Given the description of an element on the screen output the (x, y) to click on. 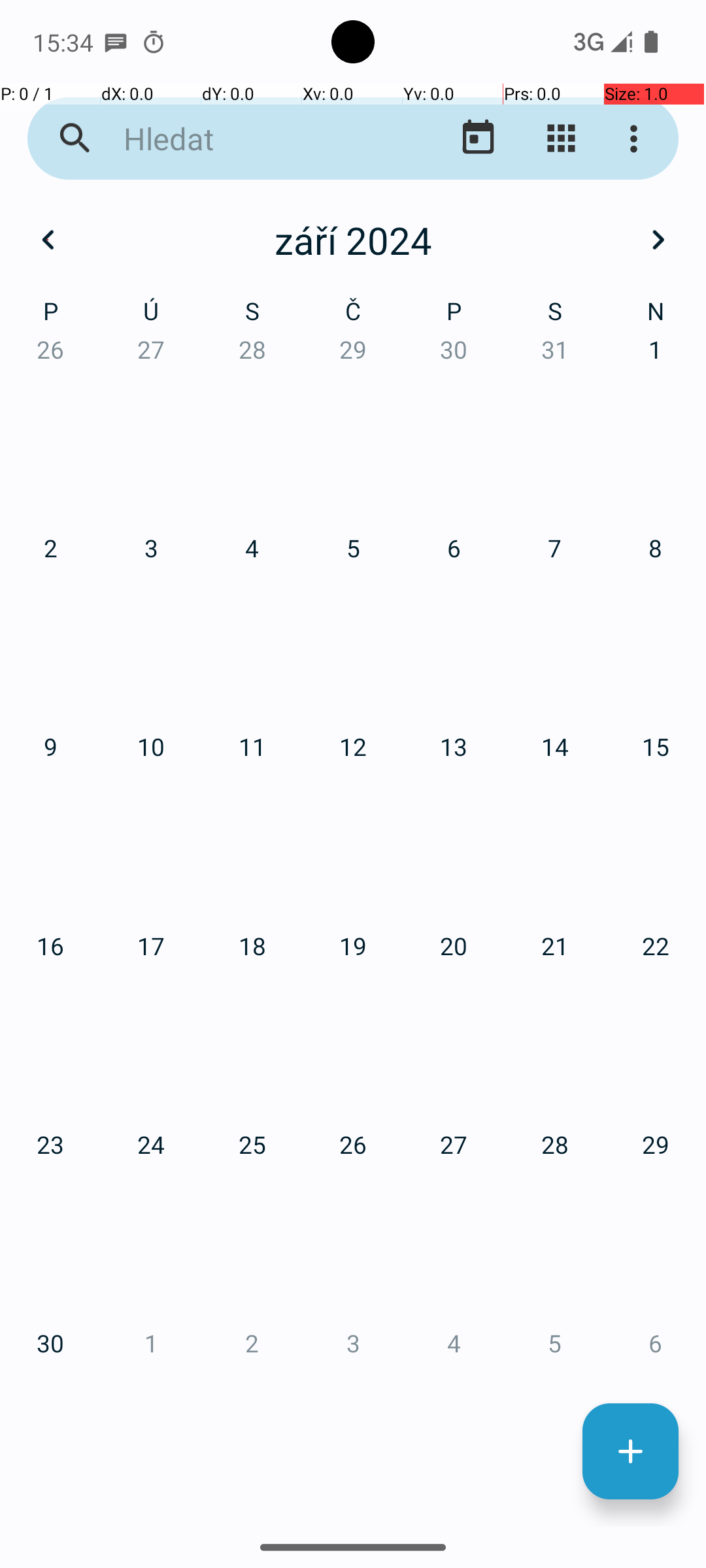
Přejít na dnešní datum Element type: android.widget.Button (477, 138)
září 2024 Element type: android.widget.TextView (352, 239)
